Given the description of an element on the screen output the (x, y) to click on. 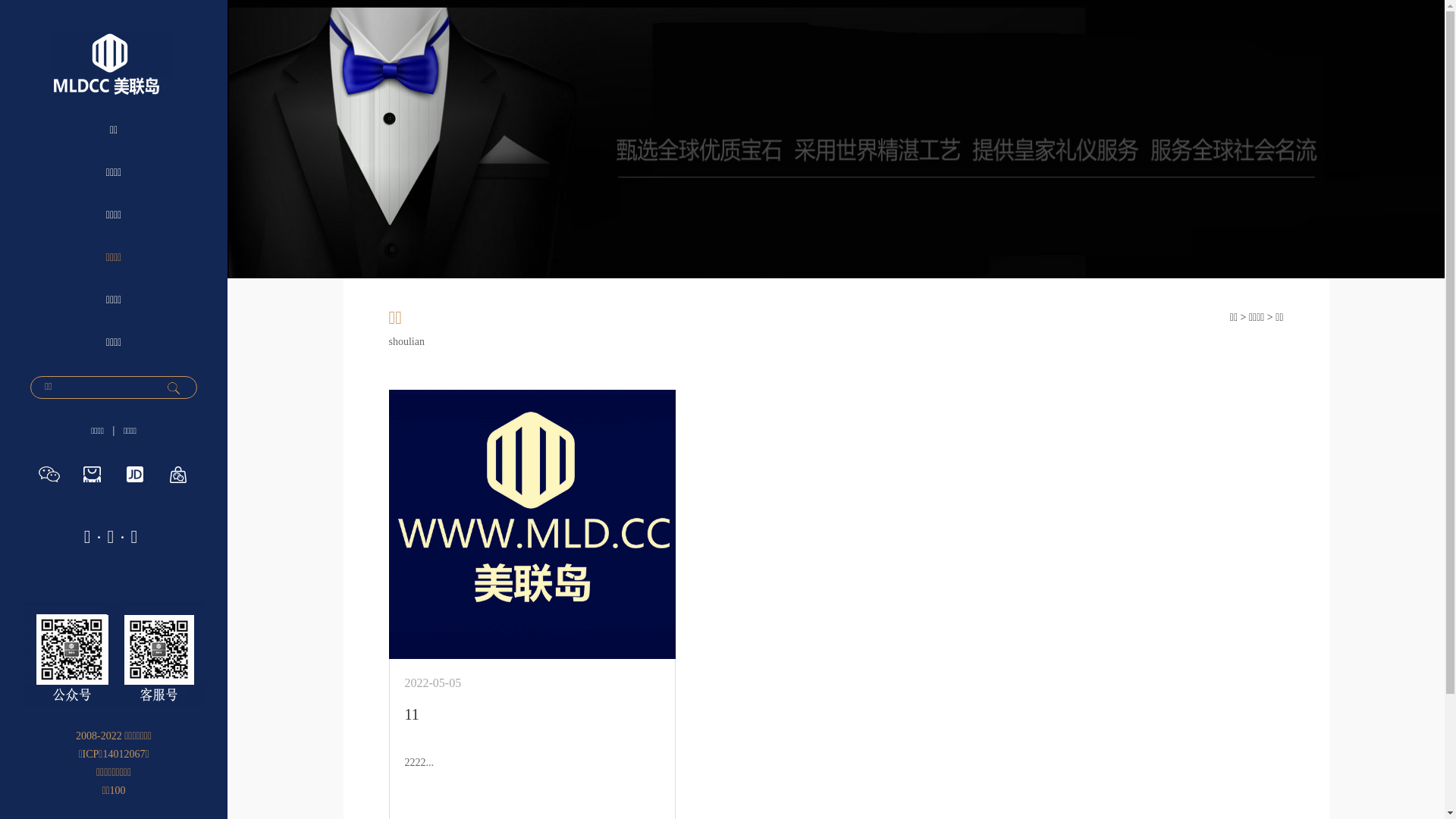
  Element type: text (173, 388)
11 Element type: text (411, 714)
